Given the description of an element on the screen output the (x, y) to click on. 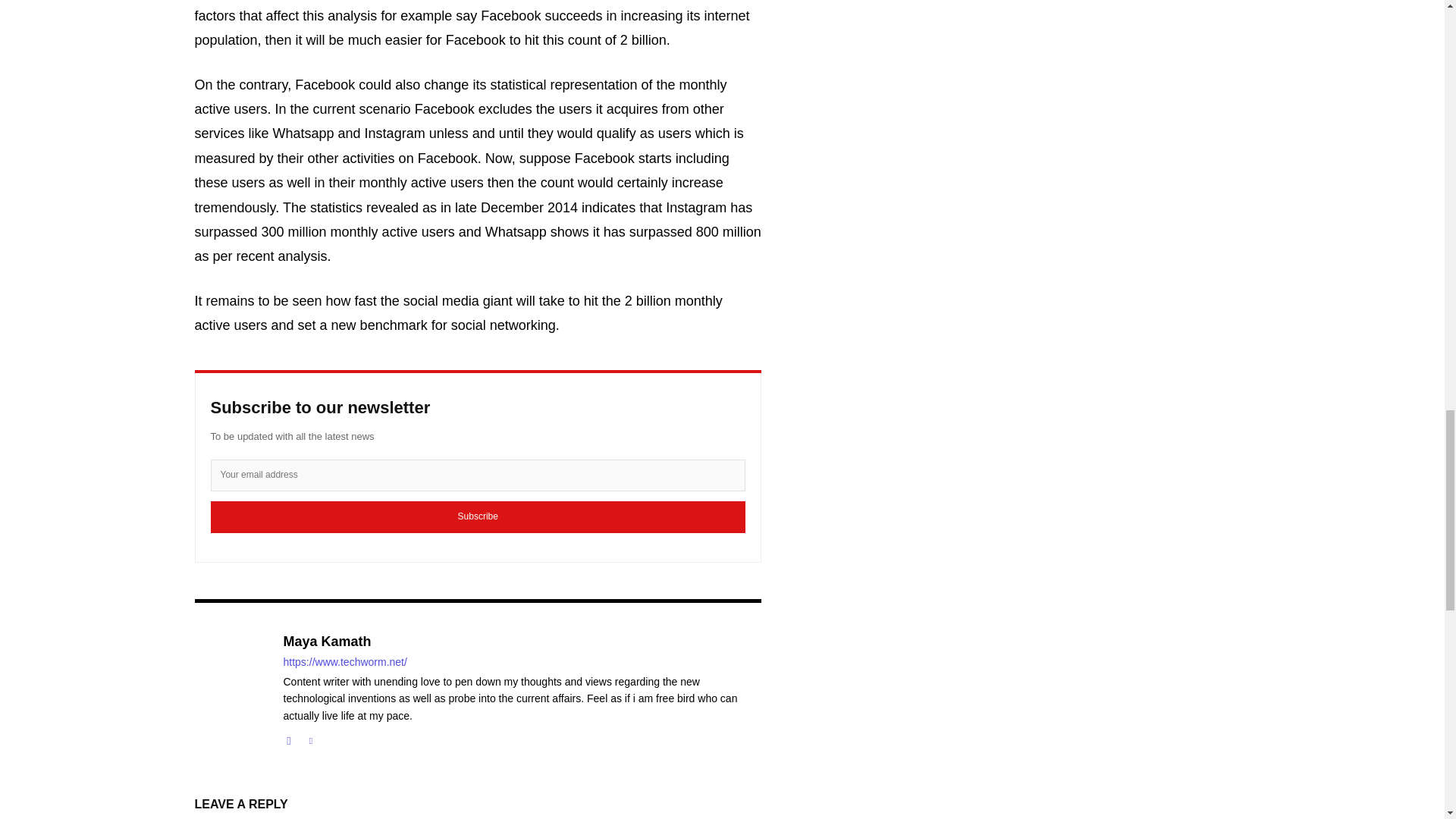
Maya Kamath (522, 641)
Twitter (309, 737)
Facebook (289, 737)
Subscribe (478, 517)
